Given the description of an element on the screen output the (x, y) to click on. 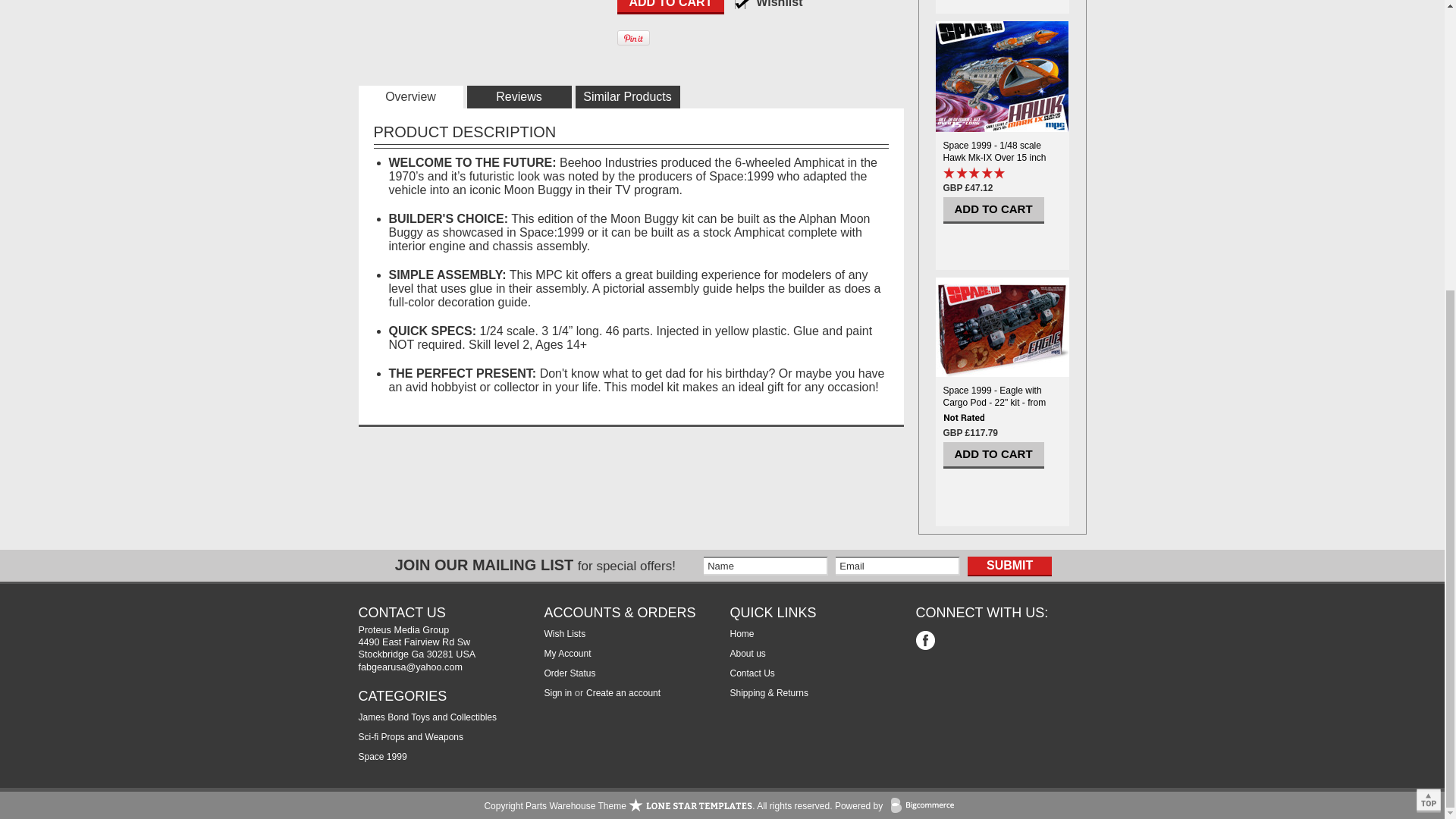
Submit (1009, 566)
Add To Cart (671, 7)
Wishlist (774, 4)
Name (765, 565)
Email (897, 565)
